Given the description of an element on the screen output the (x, y) to click on. 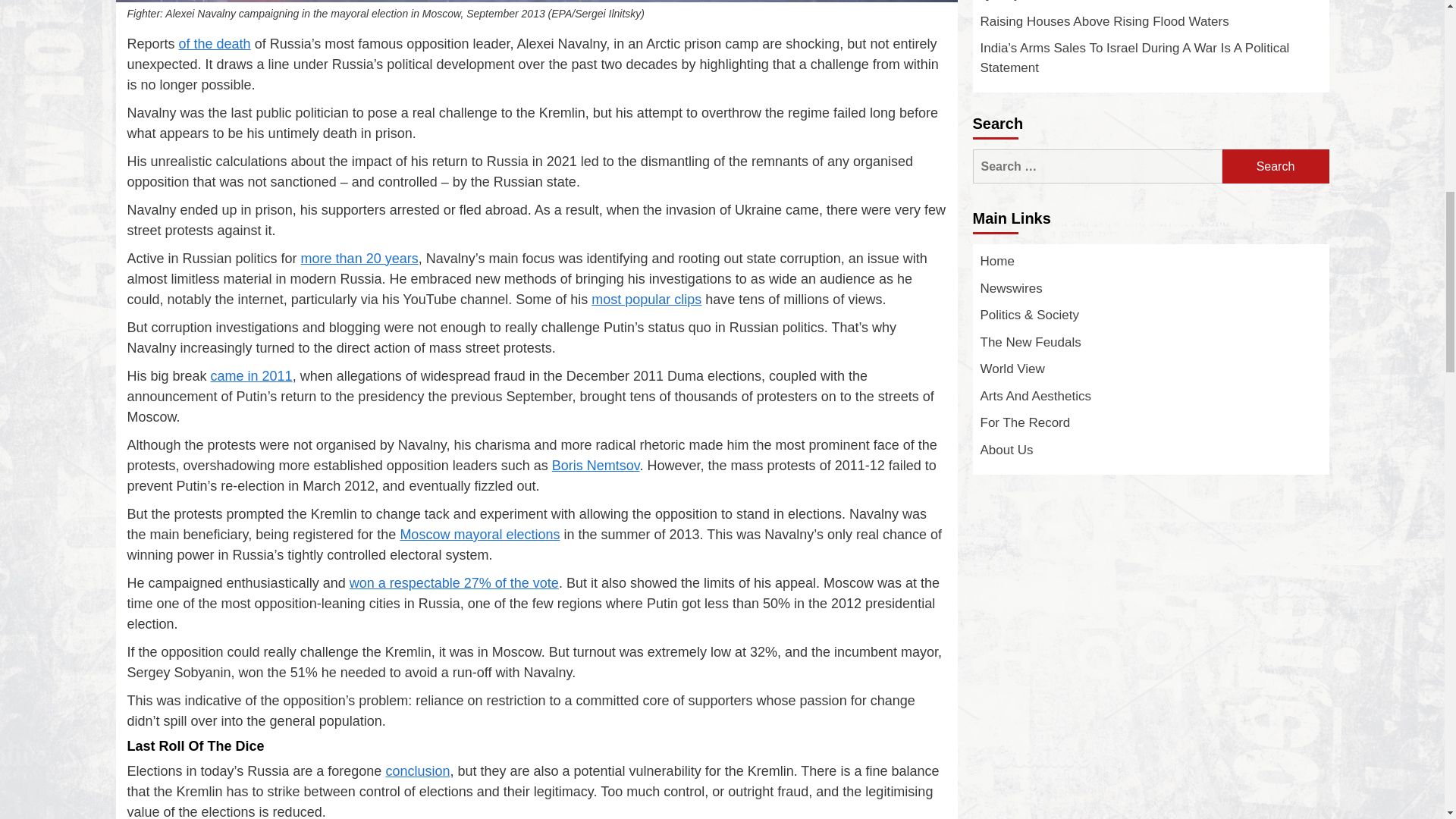
conclusion (417, 770)
came in 2011 (251, 376)
more than 20 years (360, 258)
most popular clips (646, 299)
Search (1276, 166)
Moscow mayoral elections (478, 534)
Boris Nemtsov (595, 465)
Search (1276, 166)
of the death (214, 43)
